Given the description of an element on the screen output the (x, y) to click on. 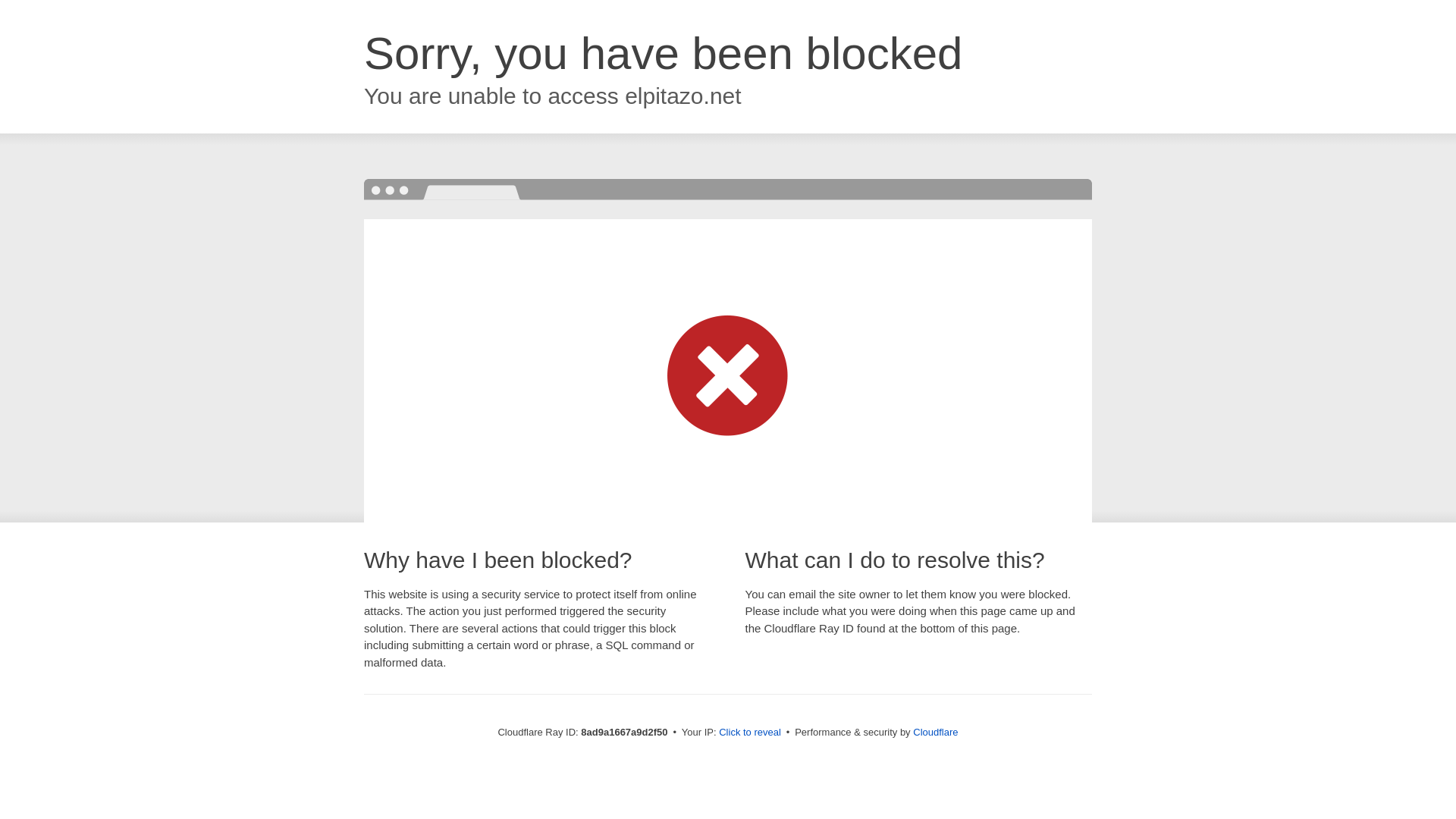
Click to reveal (749, 732)
Cloudflare (935, 731)
